Given the description of an element on the screen output the (x, y) to click on. 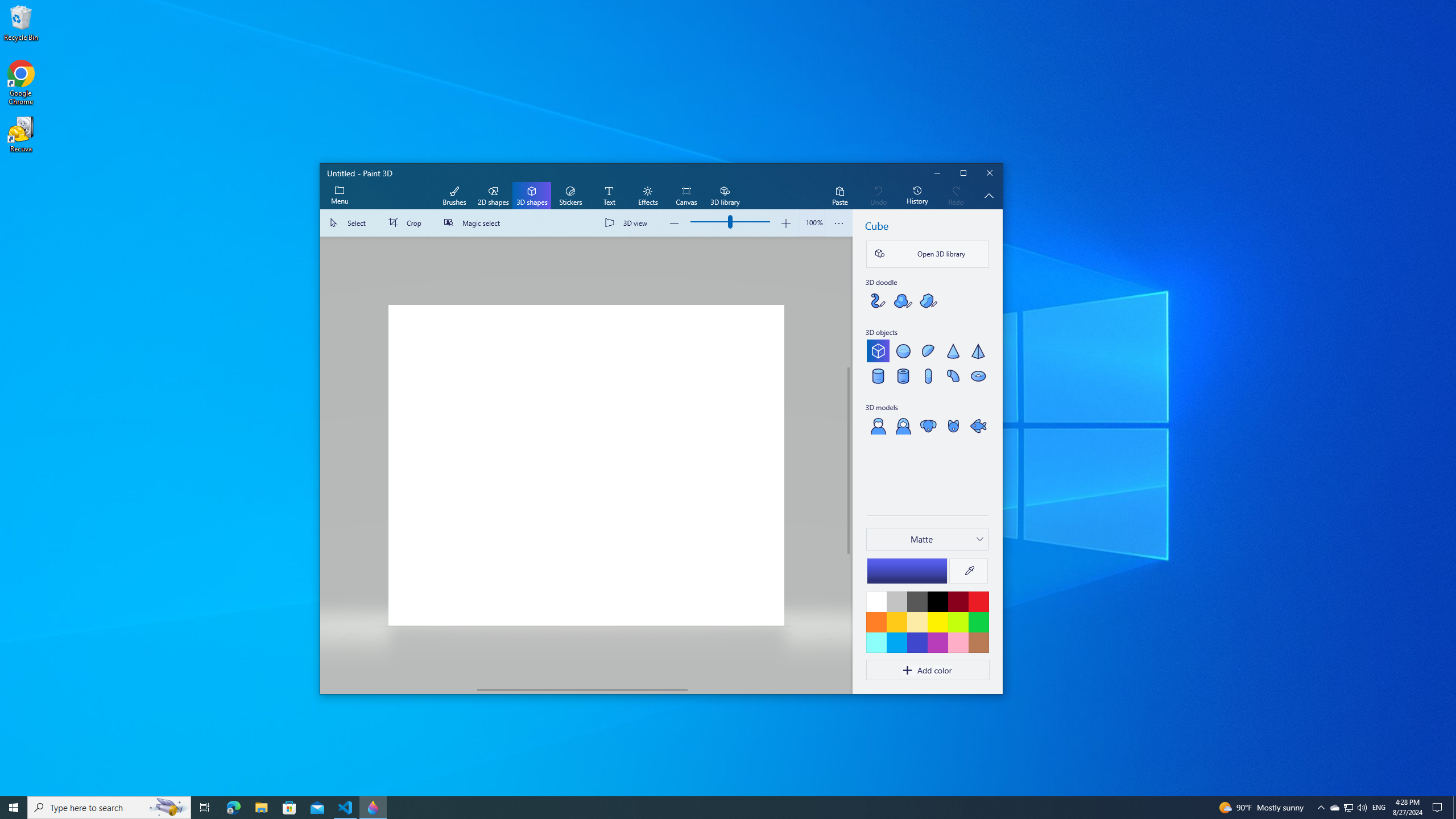
Green (978, 621)
Expand menu (339, 195)
Tube brush (877, 300)
Lime (957, 621)
Select (350, 222)
Cylinder (877, 375)
Pyramid (978, 350)
Stickers (570, 195)
Horizontal Large Increase (765, 689)
Vertical Large Increase (848, 619)
Vertical Large Decrease (848, 301)
